Given the description of an element on the screen output the (x, y) to click on. 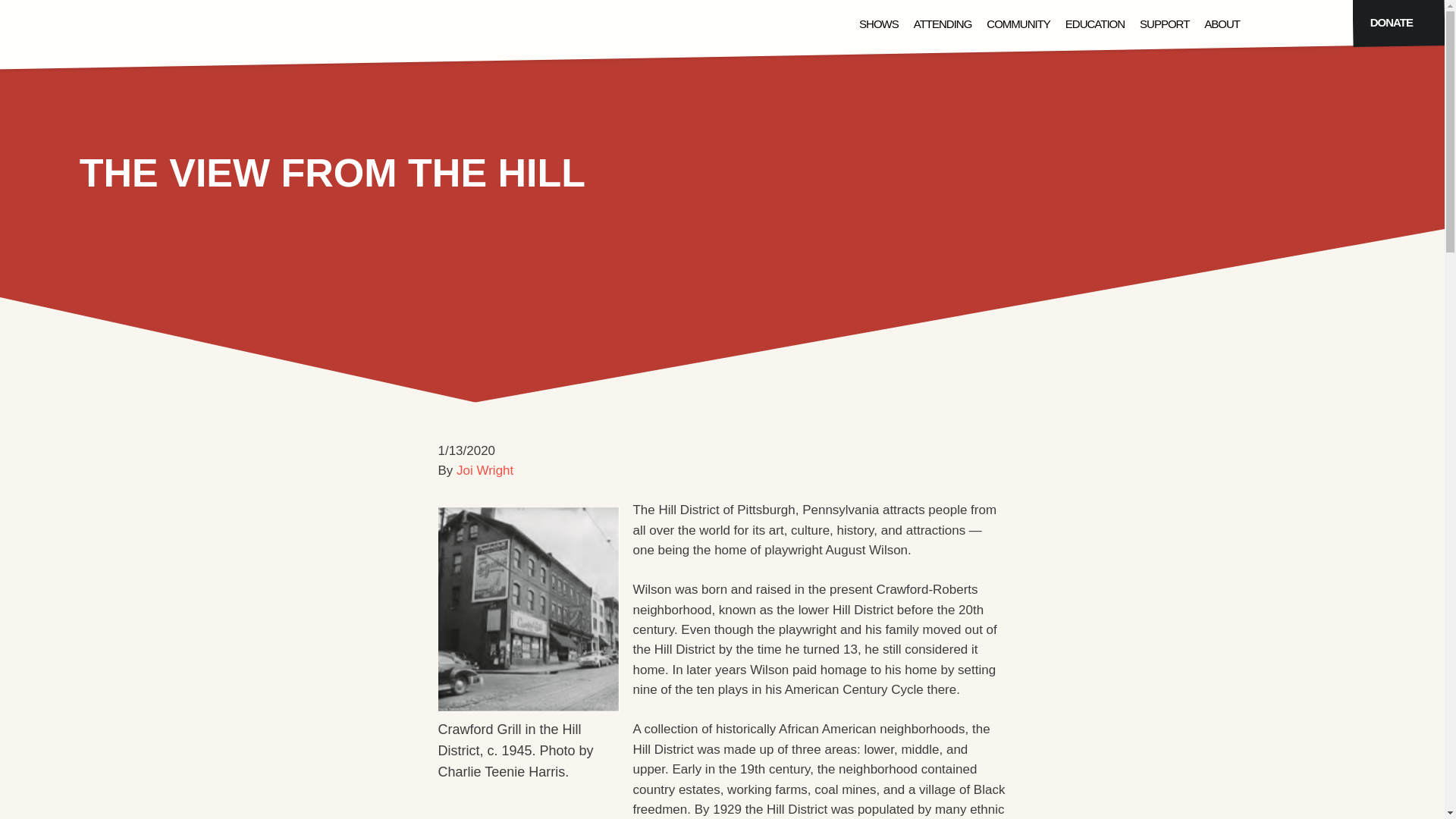
BUY TICKETS (1309, 24)
ATTENDING (942, 25)
COMMUNITY (1018, 25)
EDUCATION (1095, 25)
Trinity Repertory Company (95, 31)
SUPPORT (1164, 25)
ABOUT (1221, 25)
SHOWS (878, 25)
Joi Wright (485, 470)
